Given the description of an element on the screen output the (x, y) to click on. 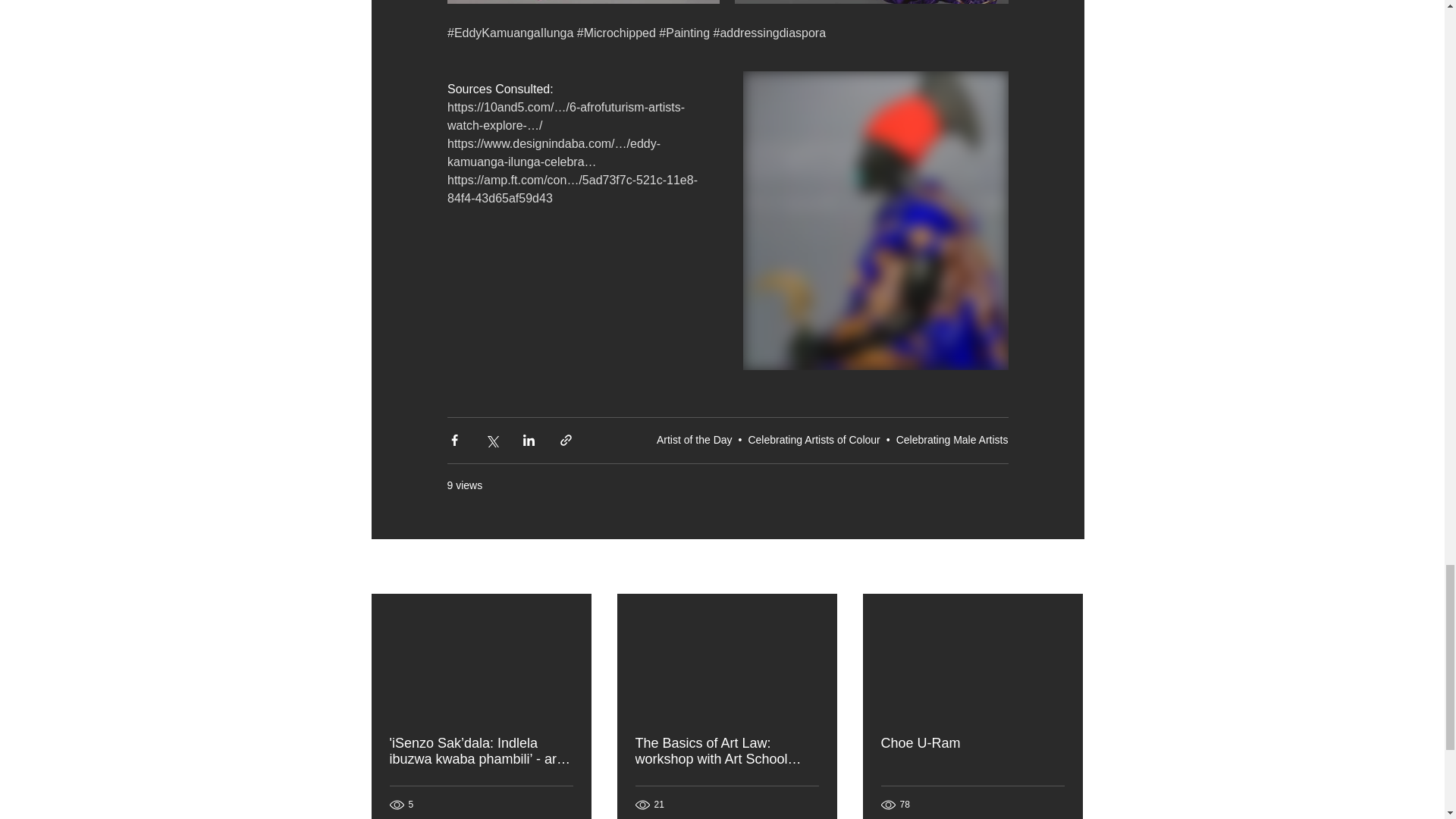
Celebrating Male Artists (952, 439)
Celebrating Artists of Colour (813, 439)
Artist of the Day (694, 439)
See All (1067, 567)
